Given the description of an element on the screen output the (x, y) to click on. 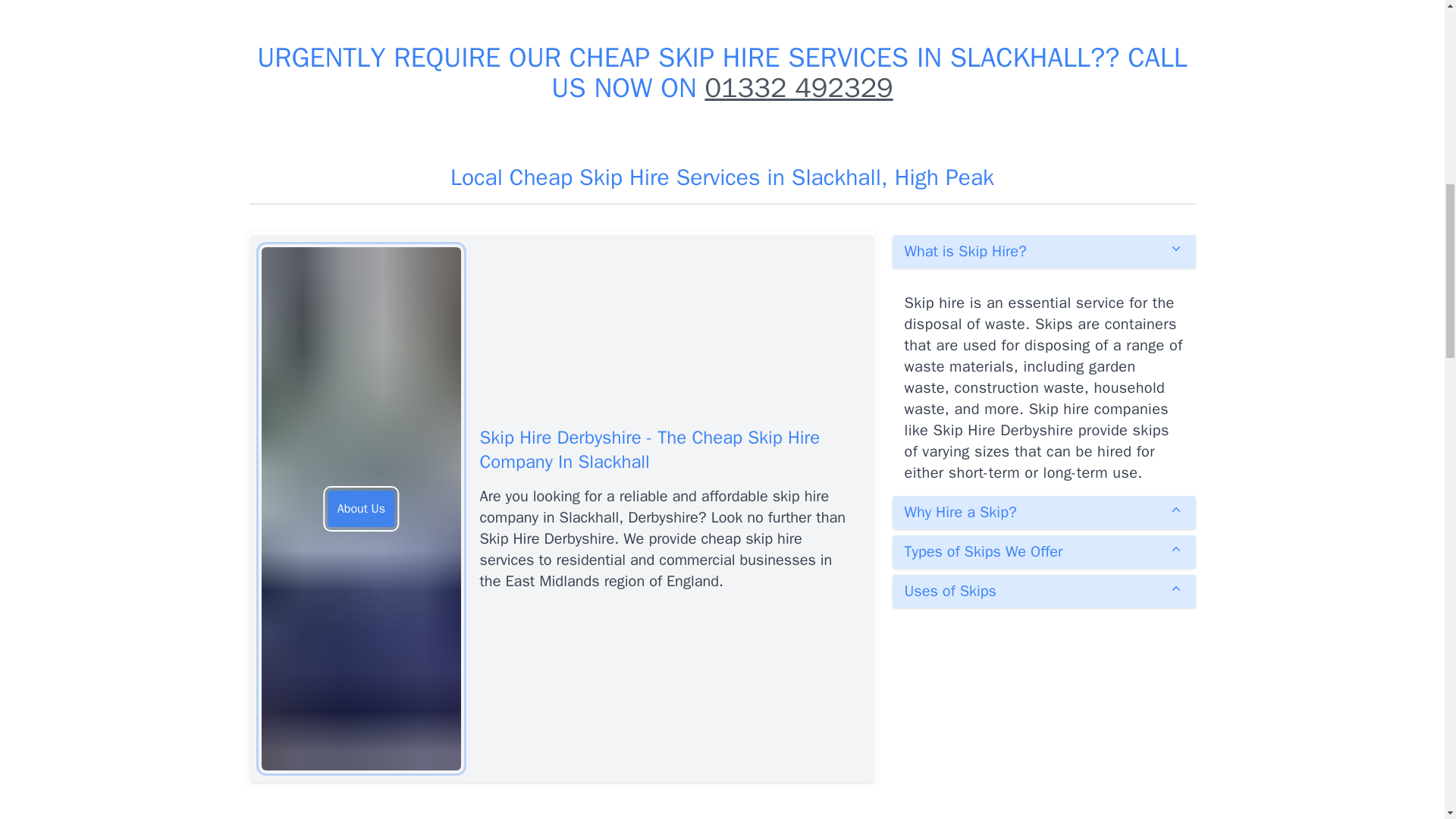
What is Skip Hire? (1043, 251)
About Us (361, 508)
Types of Skips We Offer (1043, 551)
Uses of Skips (1043, 591)
Why Hire a Skip? (1043, 512)
01332 492329 (798, 87)
